Given the description of an element on the screen output the (x, y) to click on. 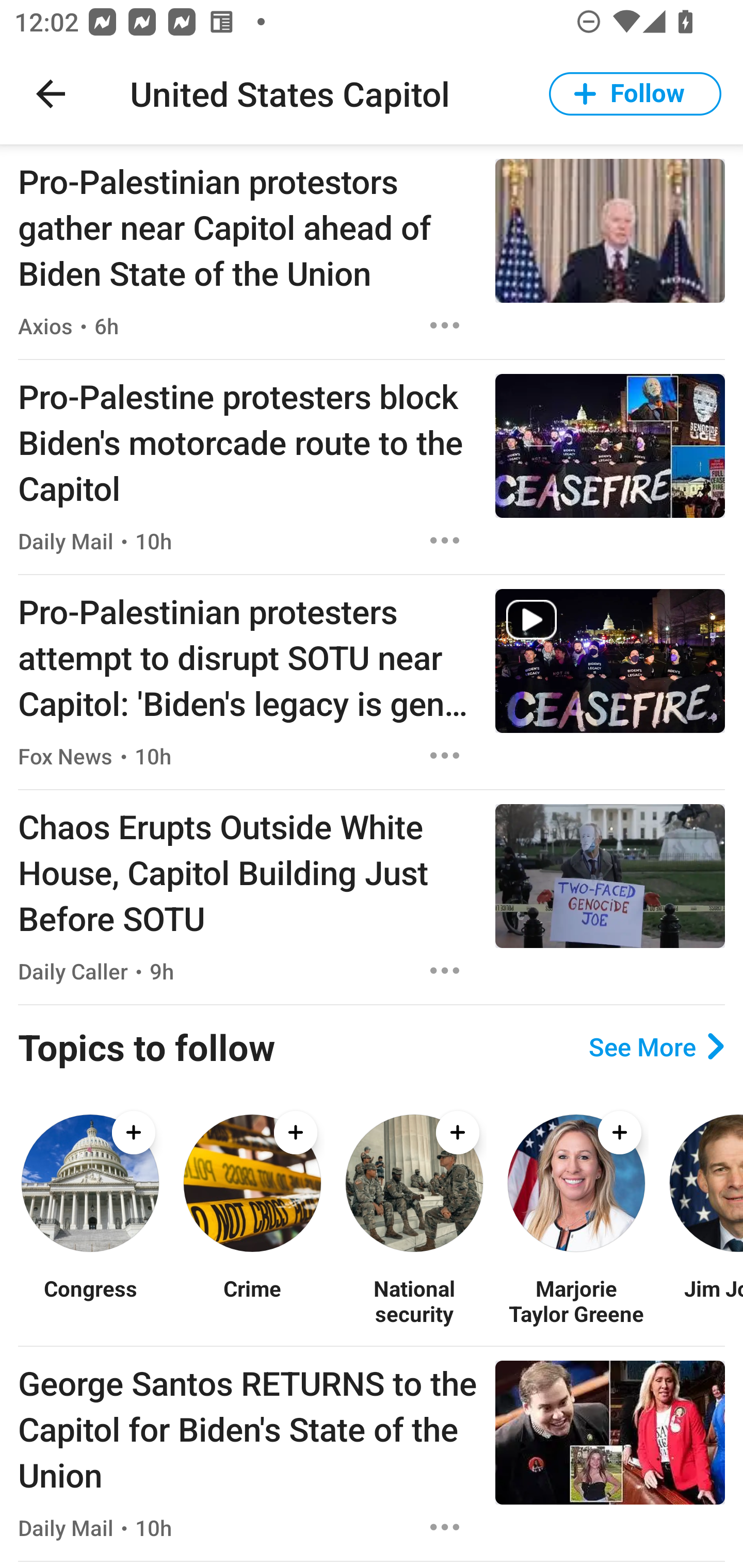
Navigate up (50, 93)
Follow (635, 94)
Options (444, 325)
Options (444, 540)
Options (444, 755)
Options (444, 970)
See More (656, 1046)
Congress (89, 1300)
Crime (251, 1300)
National security (413, 1300)
Marjorie Taylor Greene (575, 1300)
Options (444, 1527)
